Given the description of an element on the screen output the (x, y) to click on. 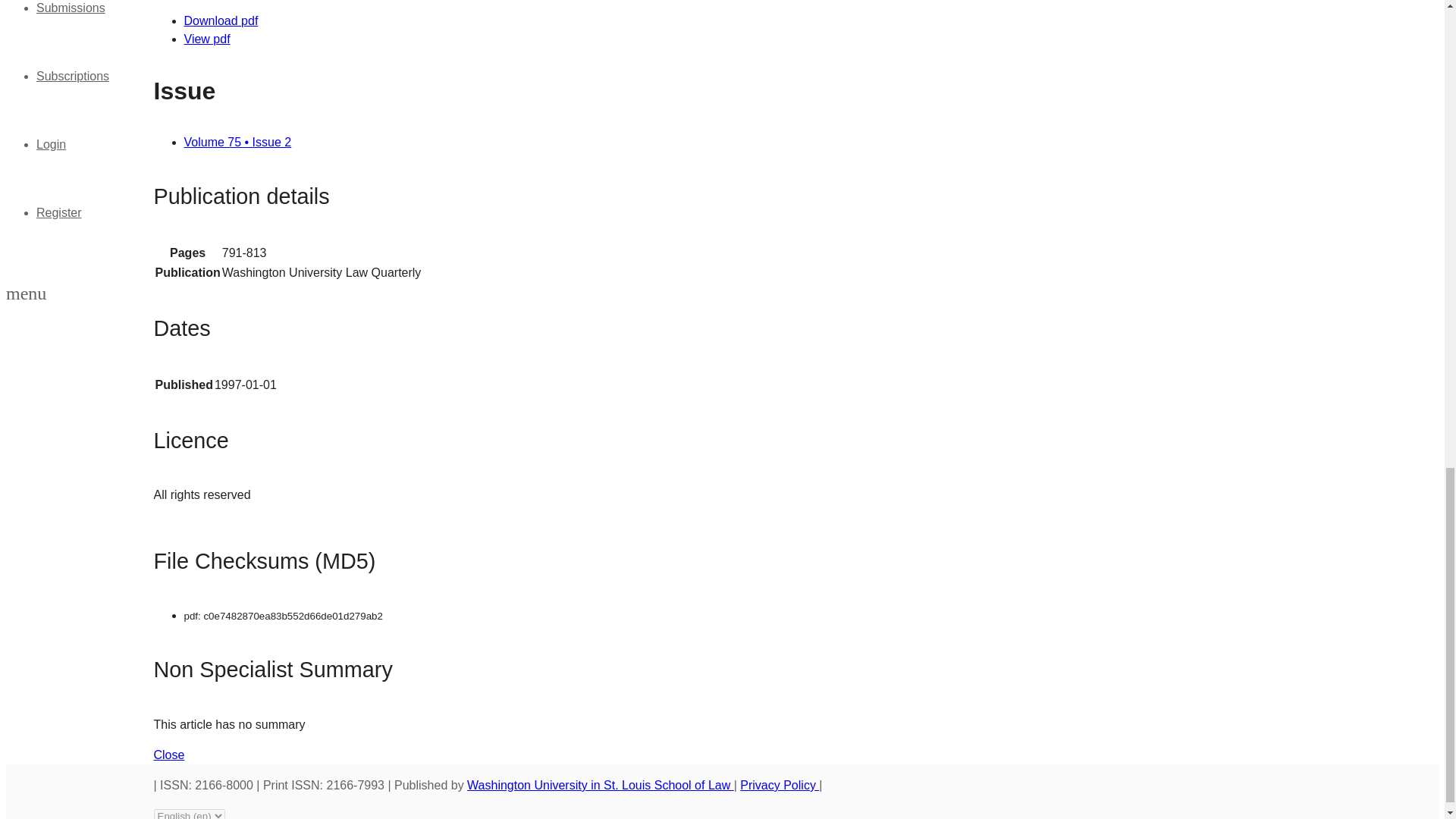
Subscriptions (72, 75)
menu (25, 295)
Login (50, 144)
View pdf (206, 38)
Download pdf (220, 20)
Privacy Policy (778, 784)
Washington University in St. Louis School of Law (600, 784)
Close (168, 754)
Register (58, 212)
Submissions (70, 7)
